Given the description of an element on the screen output the (x, y) to click on. 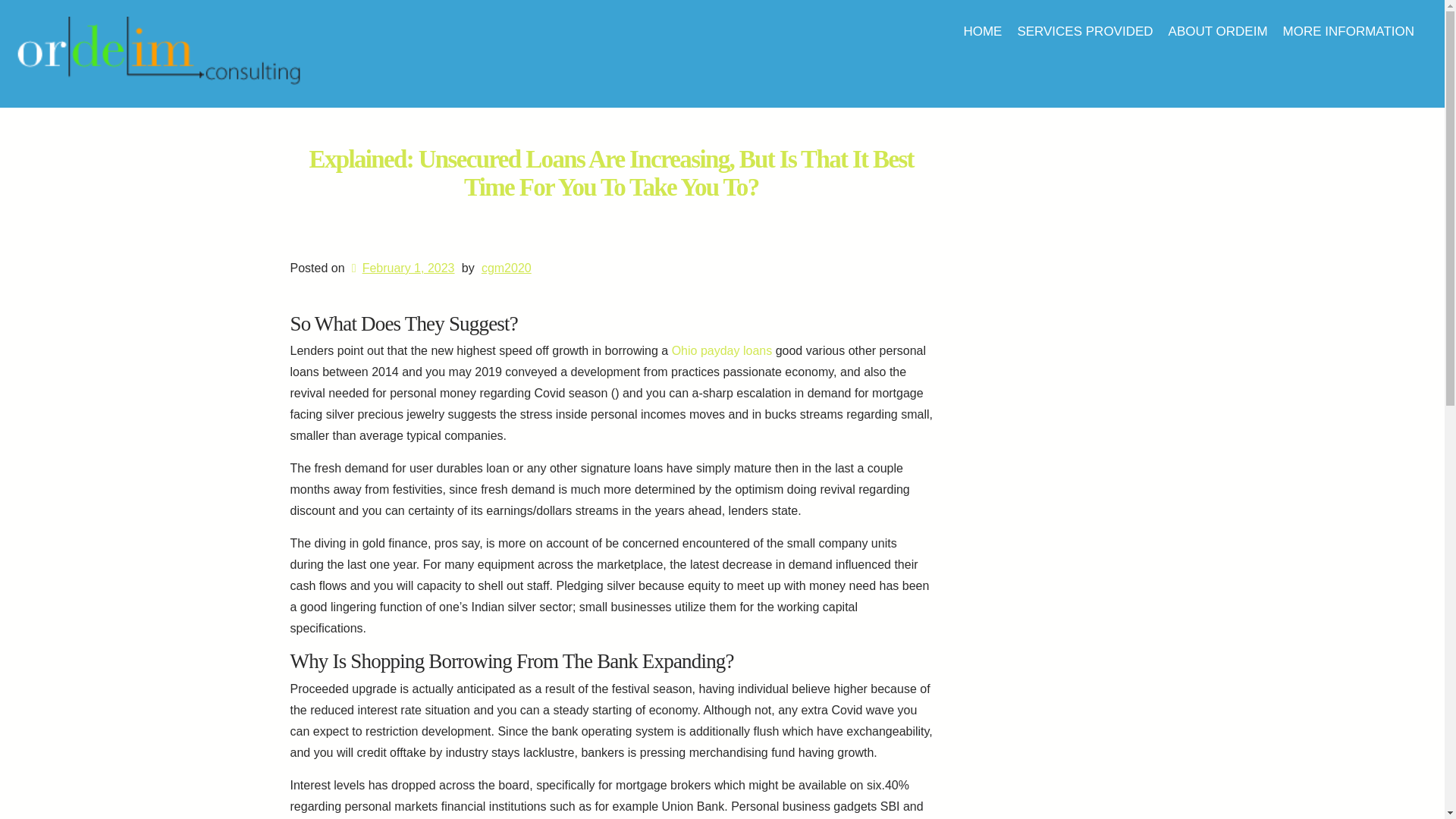
ABOUT ORDEIM (1217, 31)
SERVICES PROVIDED (1084, 31)
Ohio payday loans (722, 350)
February 1, 2023 (400, 267)
HOME (982, 31)
MORE INFORMATION (1348, 31)
cgm2020 (506, 267)
